Given the description of an element on the screen output the (x, y) to click on. 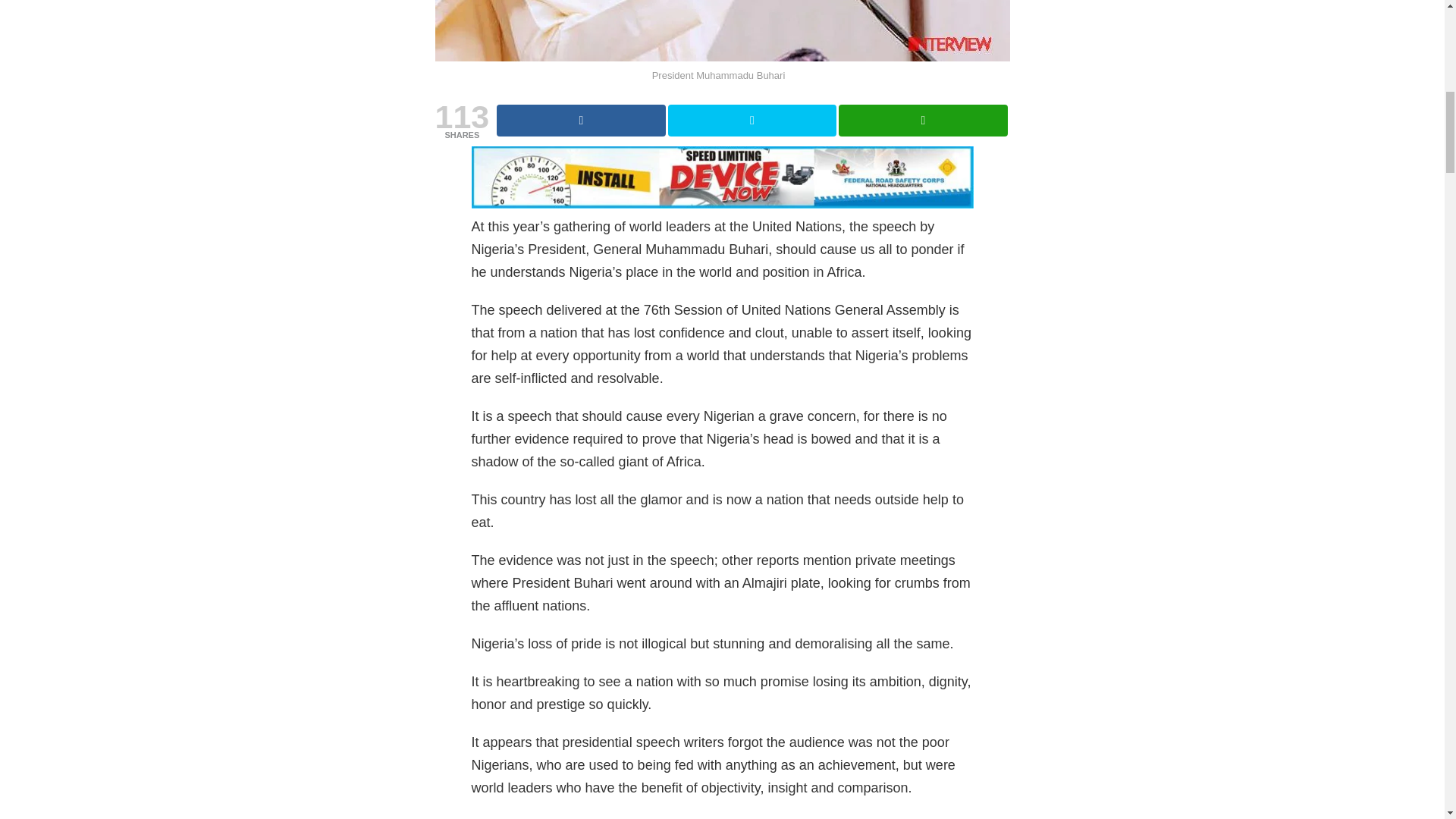
Tweet (751, 120)
Share (580, 120)
Share (922, 120)
